Given the description of an element on the screen output the (x, y) to click on. 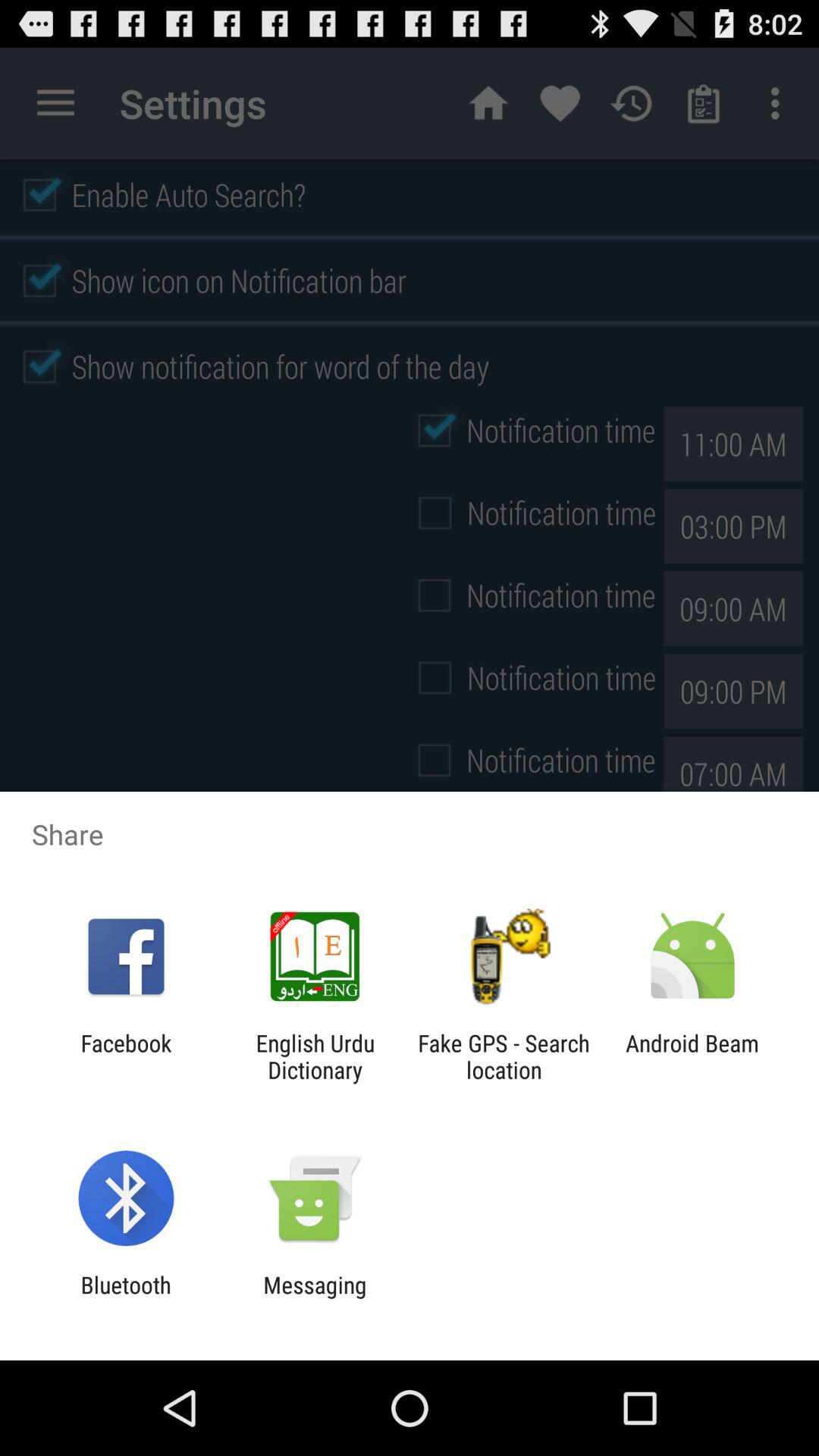
turn off the icon to the right of the english urdu dictionary (503, 1056)
